Given the description of an element on the screen output the (x, y) to click on. 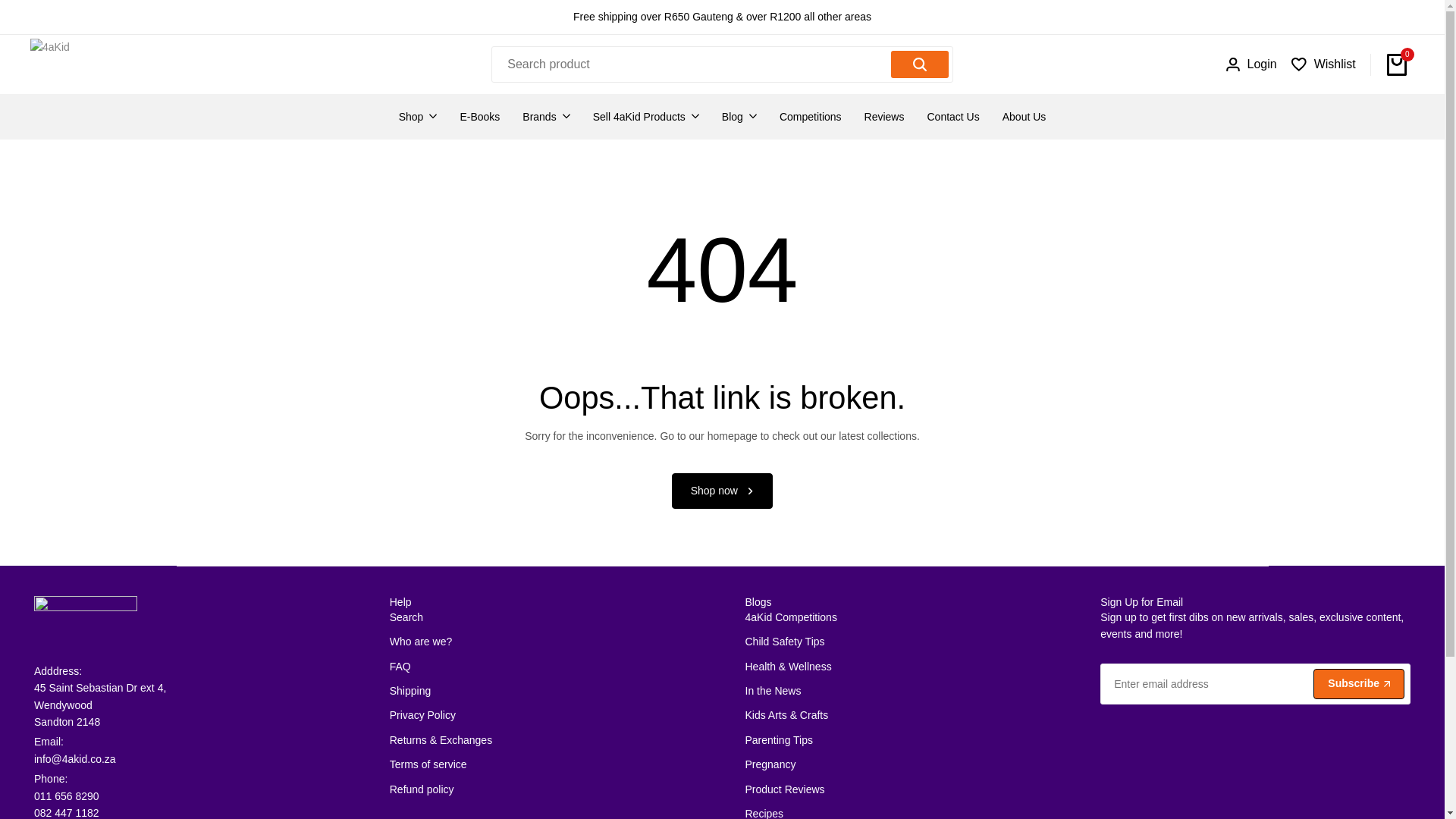
In the News (772, 690)
Terms of service (428, 764)
Pregnancy (769, 764)
Login (1250, 64)
Shop now (722, 490)
Who are we? (420, 641)
Wishlist (1323, 64)
Competitions (809, 116)
FAQ (400, 666)
Privacy Policy (422, 715)
